Given the description of an element on the screen output the (x, y) to click on. 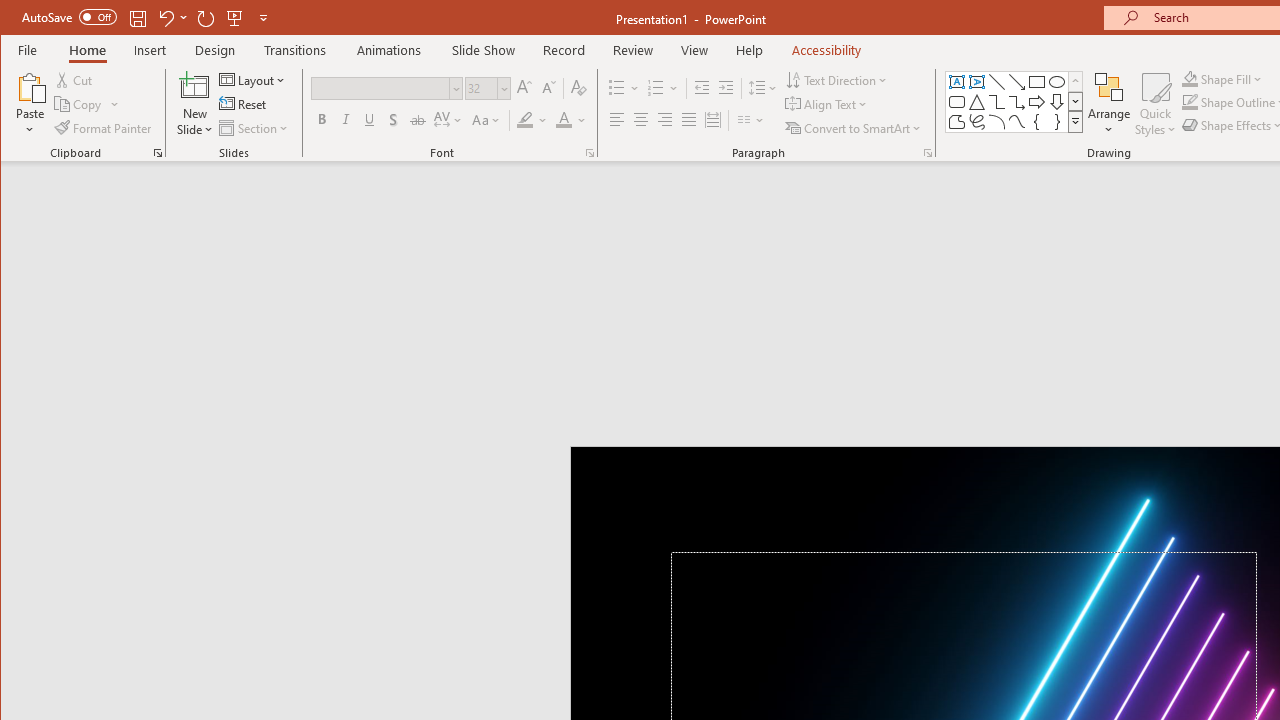
Shape Outline Blue, Accent 1 (1189, 101)
